Given the description of an element on the screen output the (x, y) to click on. 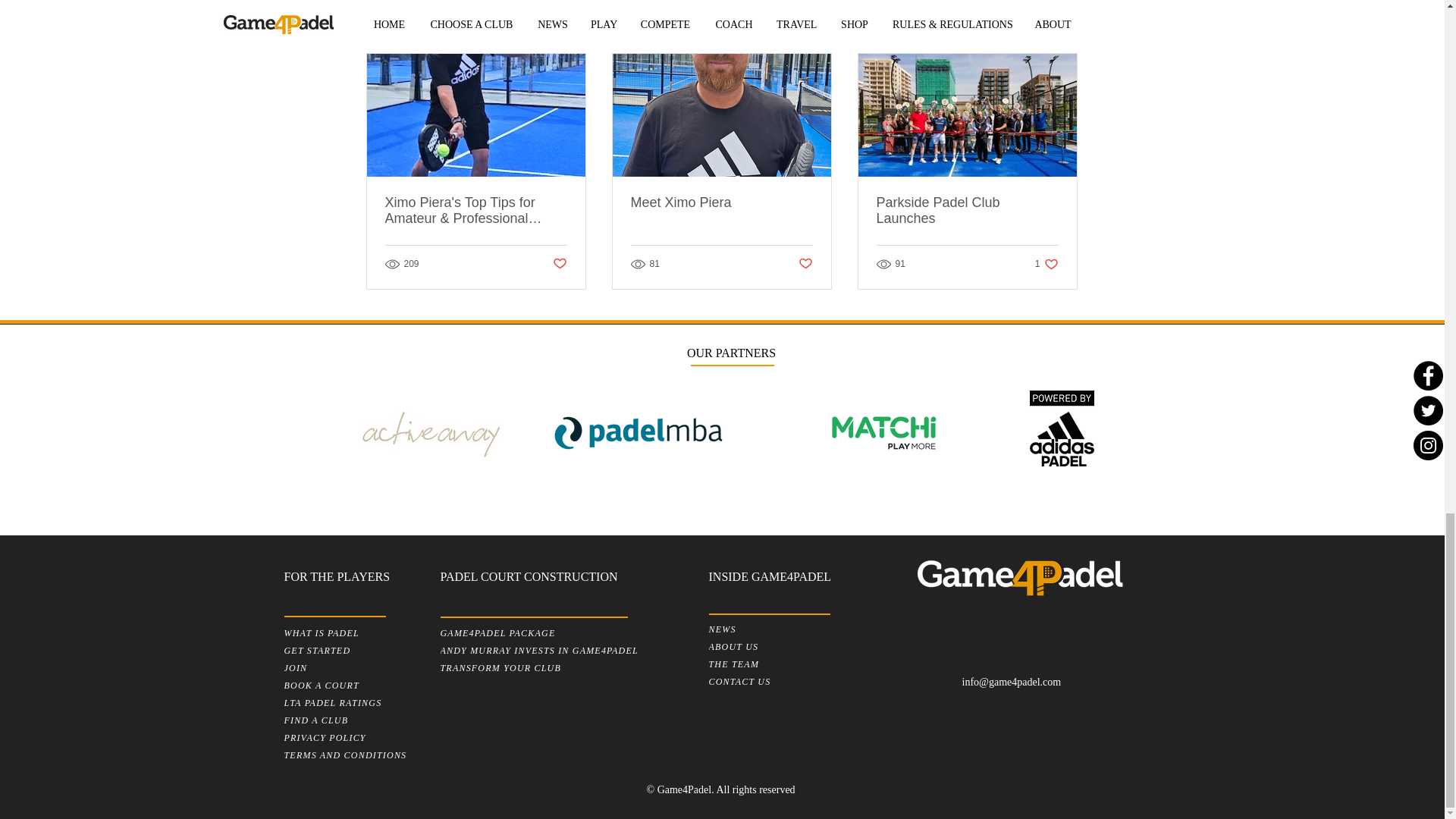
See All (1061, 26)
